Given the description of an element on the screen output the (x, y) to click on. 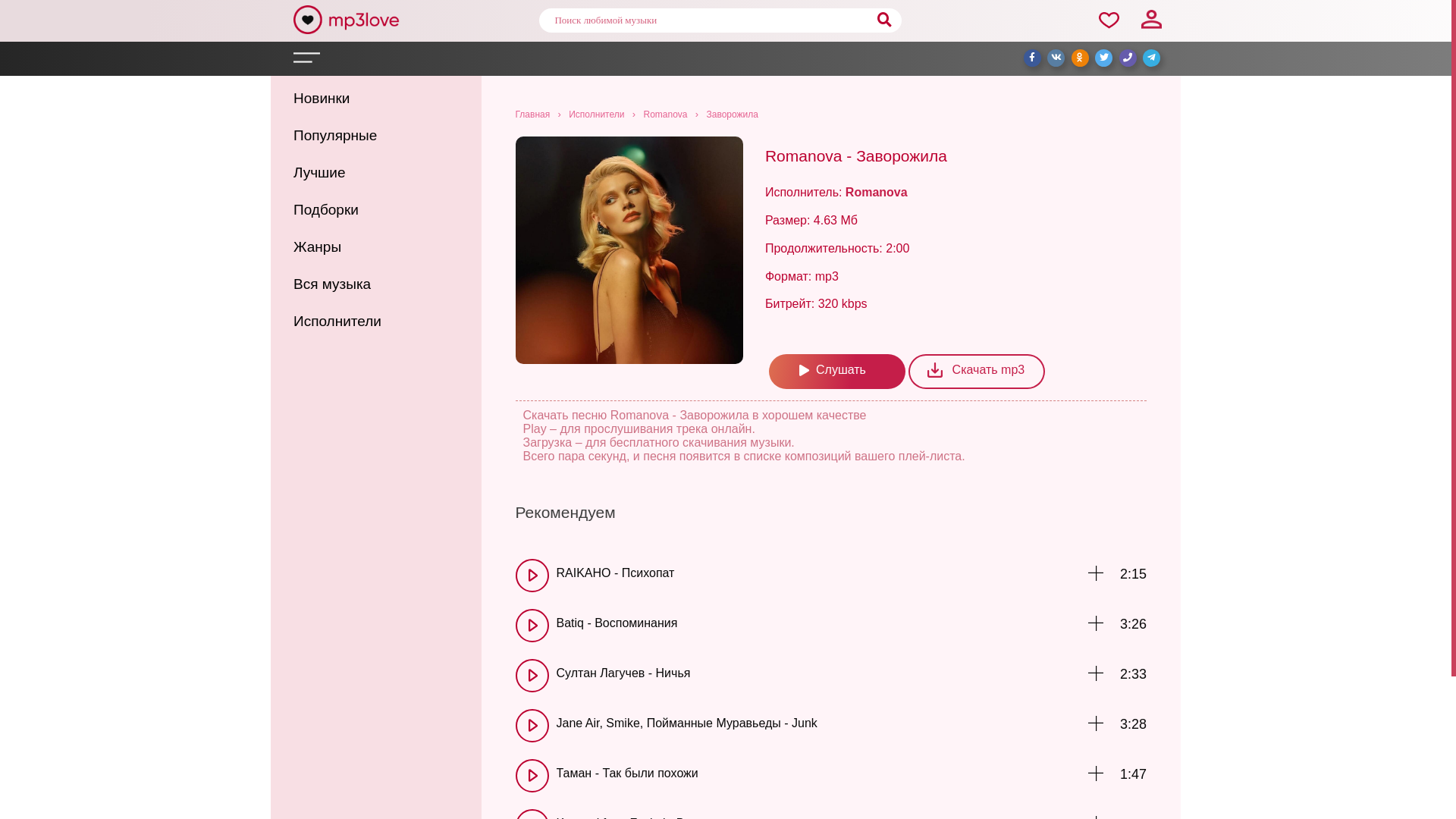
Romanova Element type: text (876, 191)
Romanova Element type: text (665, 114)
